Given the description of an element on the screen output the (x, y) to click on. 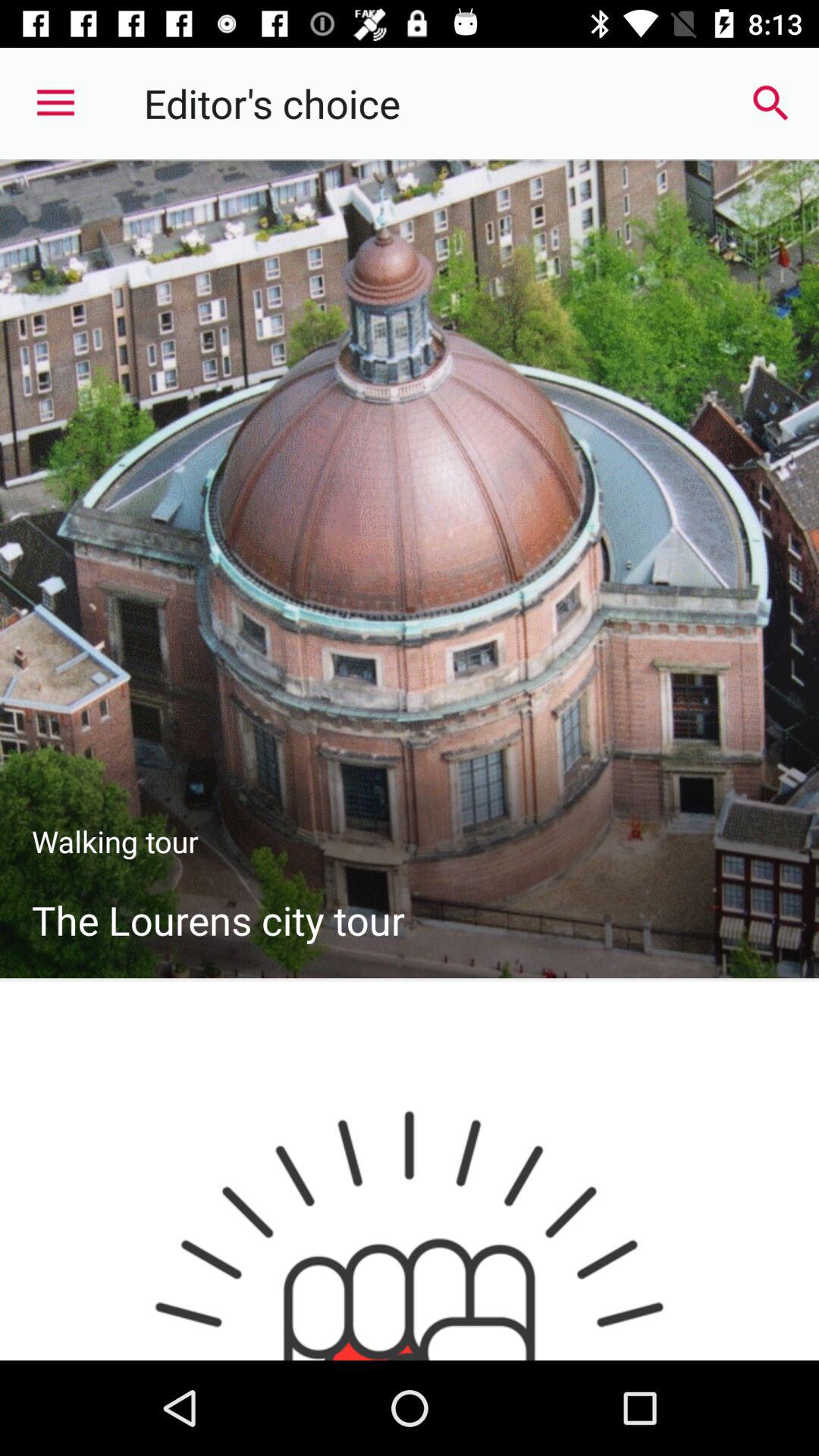
turn off icon to the right of editor's choice (771, 103)
